Given the description of an element on the screen output the (x, y) to click on. 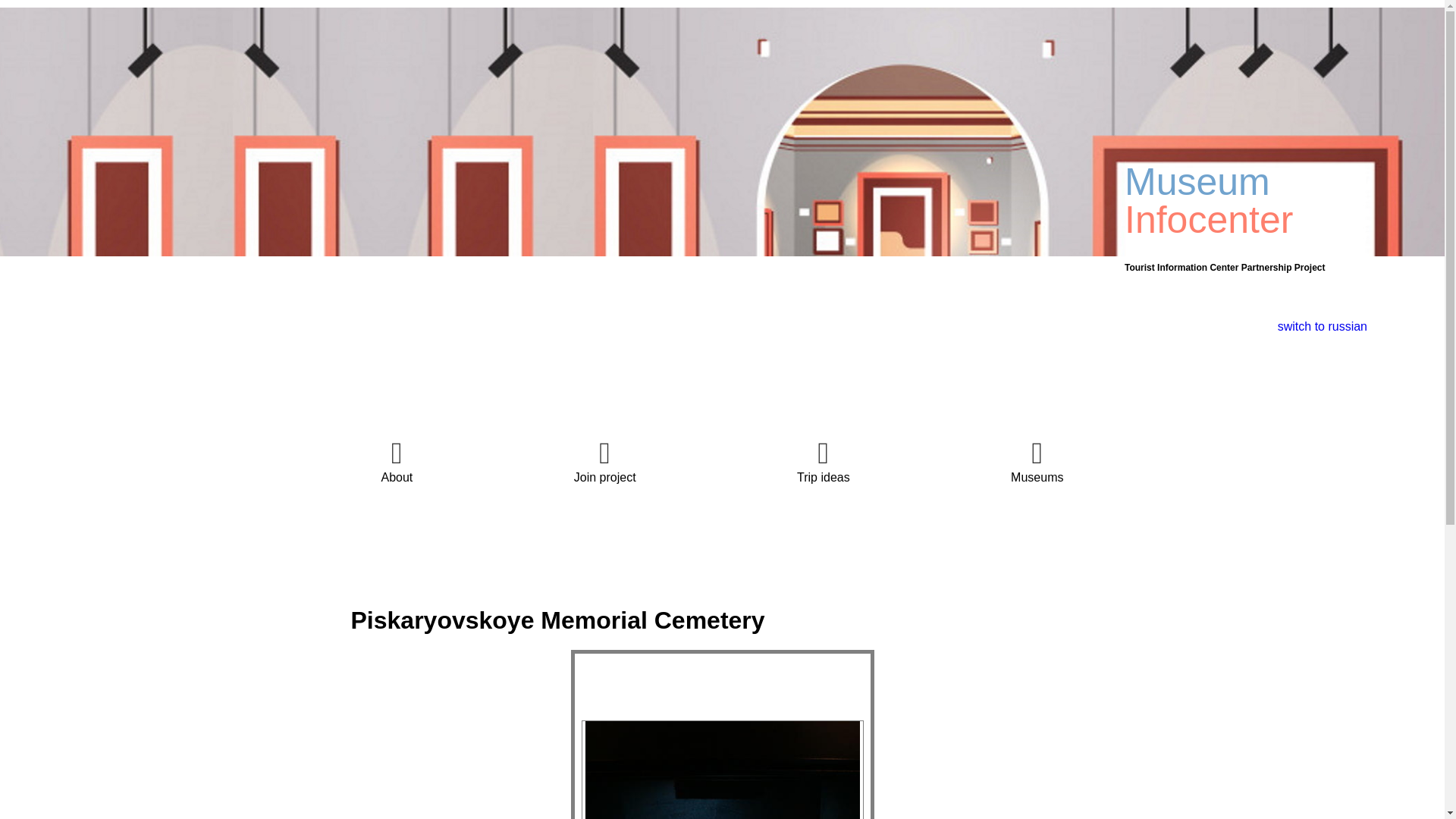
Museums (1036, 459)
switch to russian (1322, 326)
Join project (604, 459)
Trip ideas (823, 459)
